Given the description of an element on the screen output the (x, y) to click on. 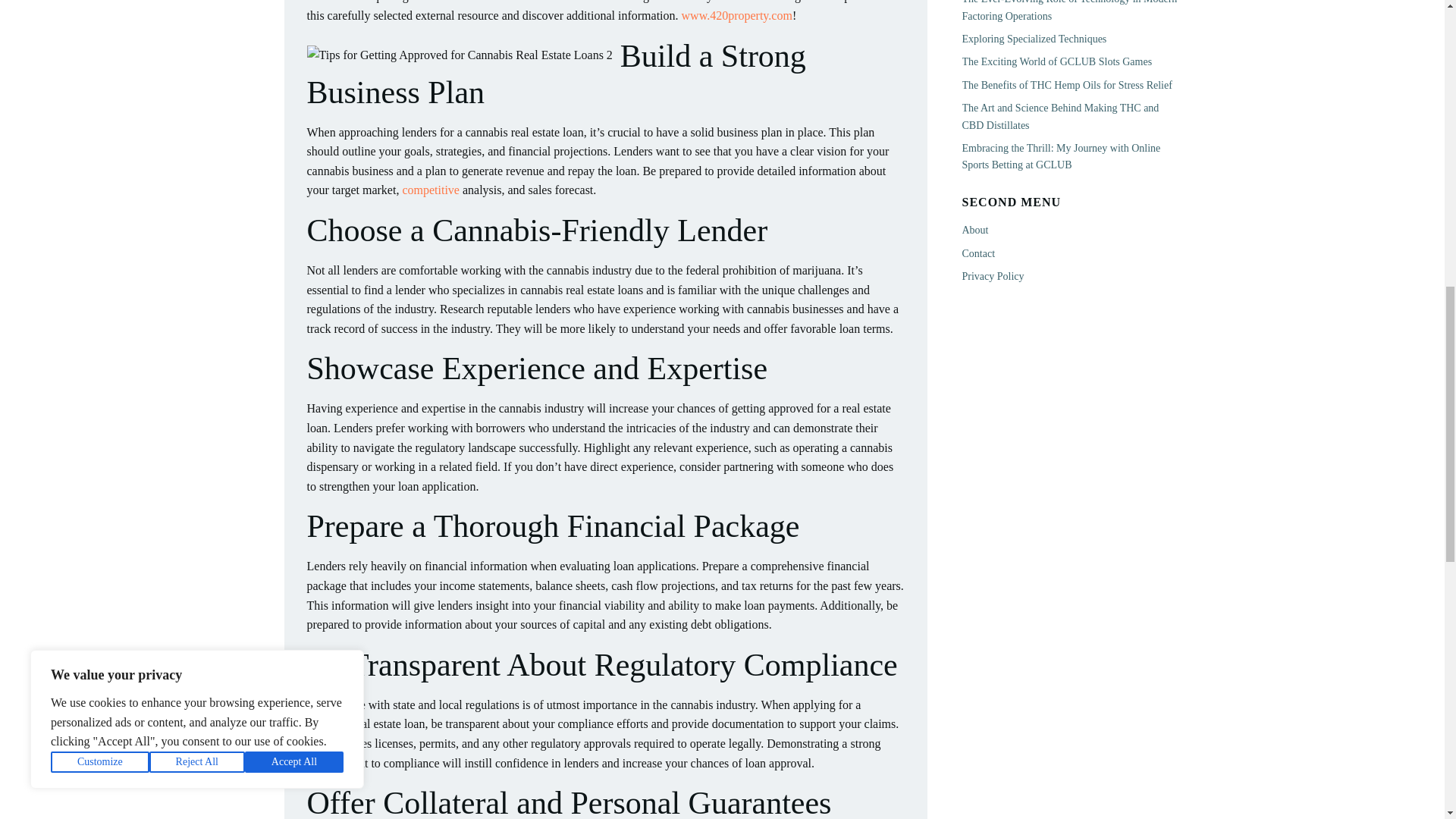
competitive (430, 189)
www.420property.com (736, 15)
